Given the description of an element on the screen output the (x, y) to click on. 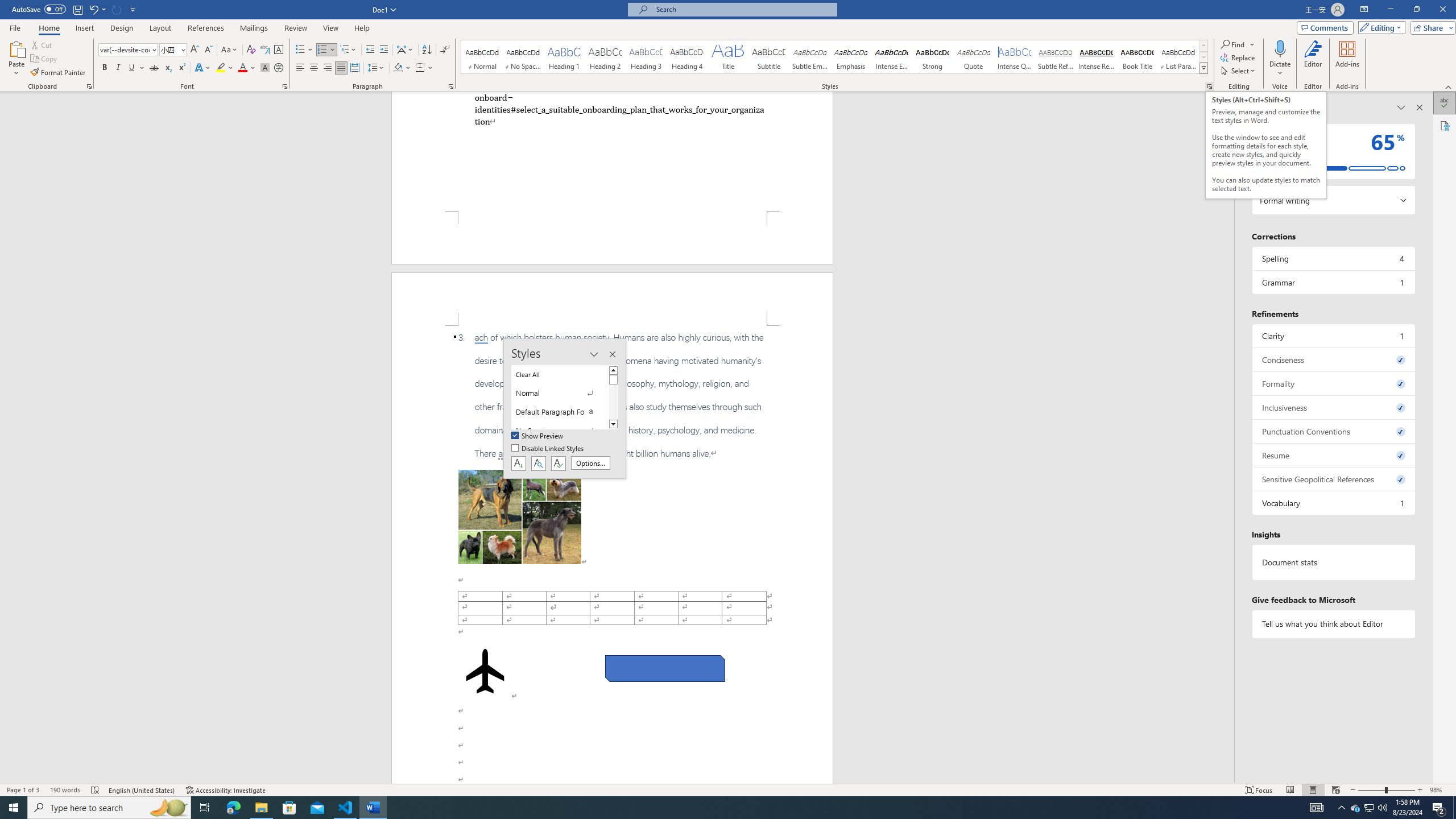
Page 2 content (611, 554)
Intense Quote (1014, 56)
Customize Quick Access Toolbar (133, 9)
Strikethrough (154, 67)
Collapse the Ribbon (1448, 86)
Clarity, 1 issue. Press space or enter to review items. (1333, 335)
Title (727, 56)
Quote (973, 56)
Disable Linked Styles (548, 448)
Font (124, 49)
Multilevel List (347, 49)
Paste (16, 58)
Page 1 content (611, 151)
Heading 2 (605, 56)
